Given the description of an element on the screen output the (x, y) to click on. 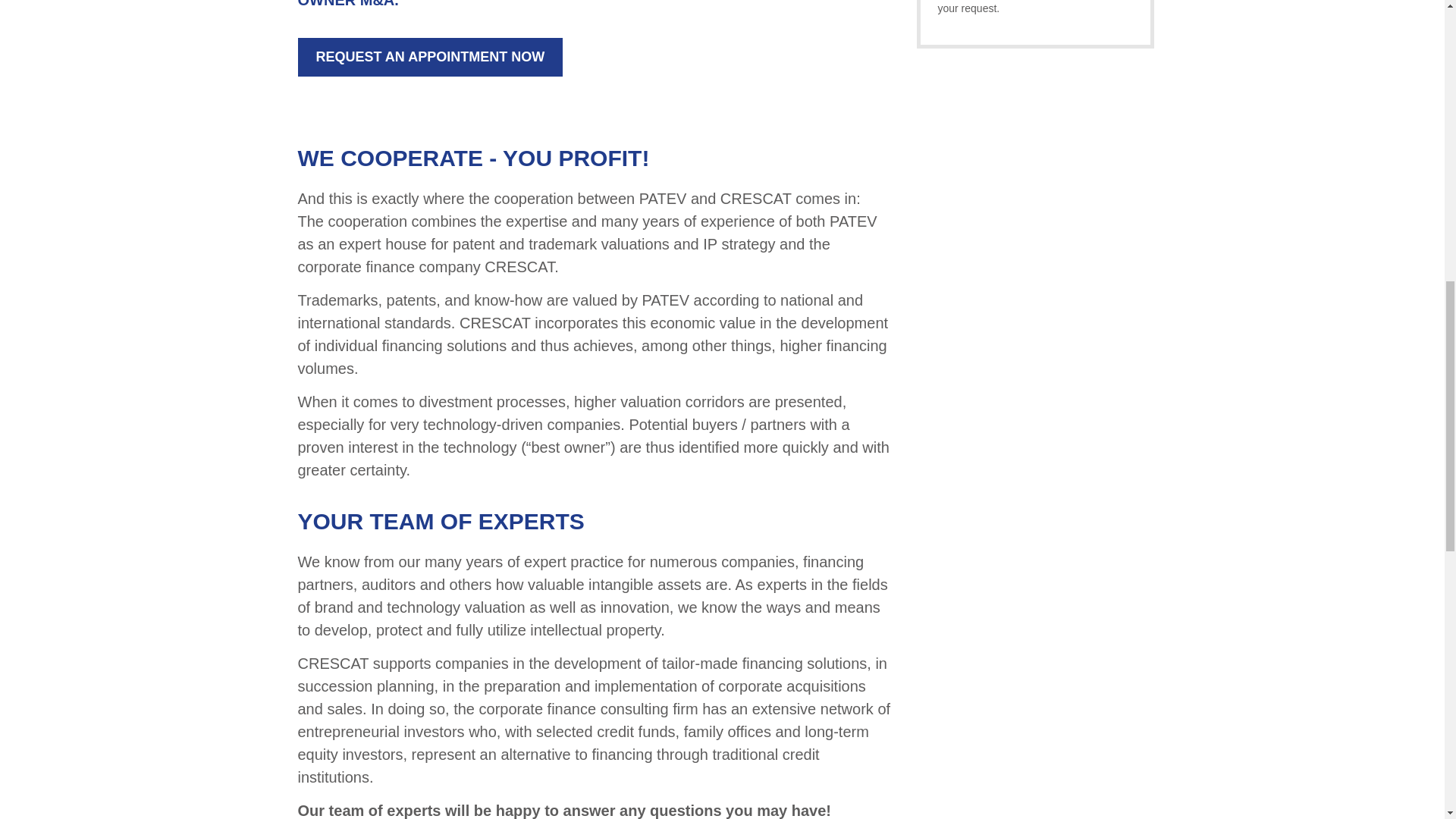
REQUEST AN APPOINTMENT NOW (429, 56)
